Given the description of an element on the screen output the (x, y) to click on. 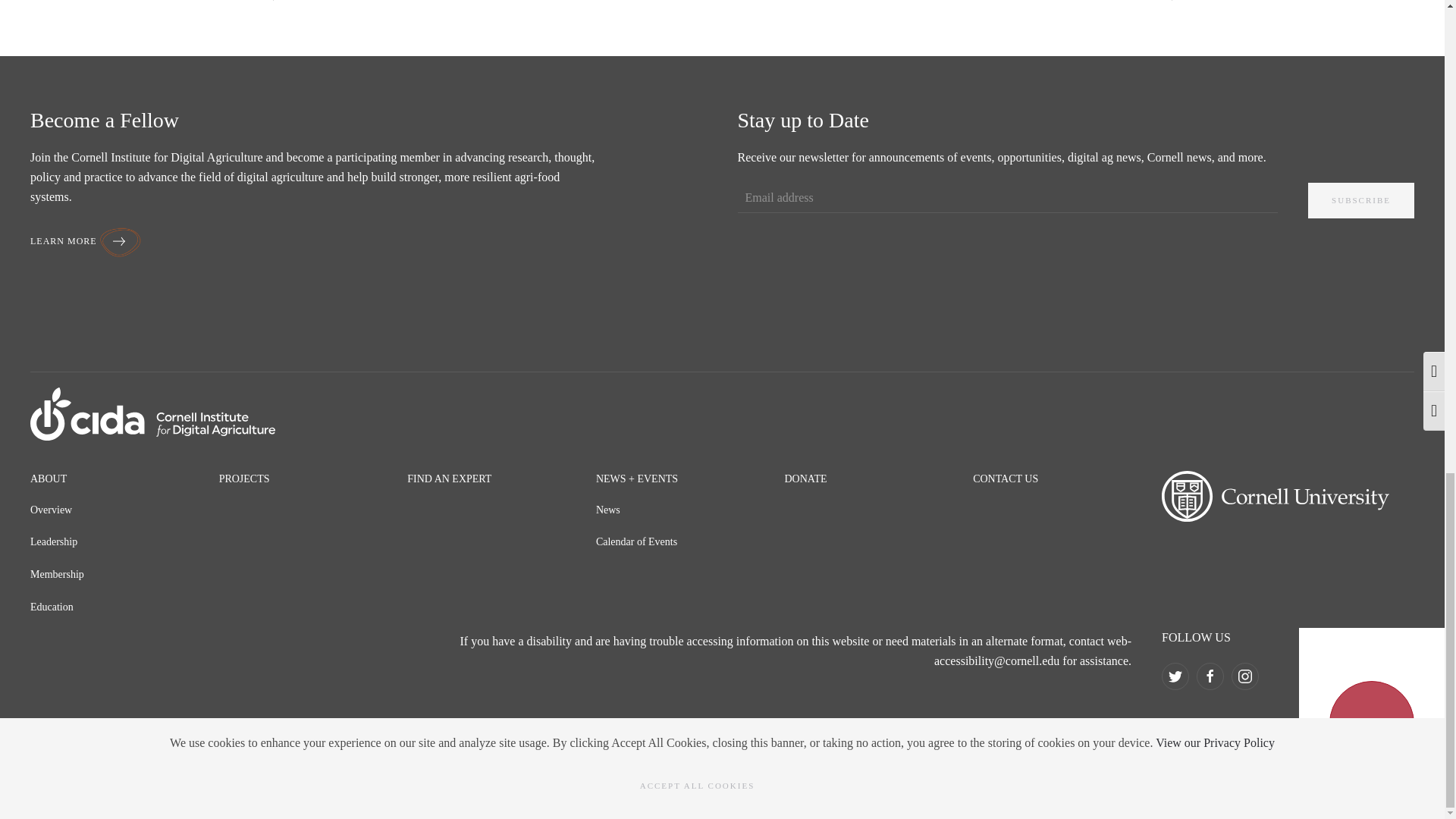
Education (52, 606)
ABOUT (48, 478)
PREVIOUS (292, 2)
SUBSCRIBE (1360, 200)
LEARN MORE (85, 240)
Overview (50, 509)
Leadership (53, 541)
NEXT (1160, 2)
Membership (57, 573)
